Given the description of an element on the screen output the (x, y) to click on. 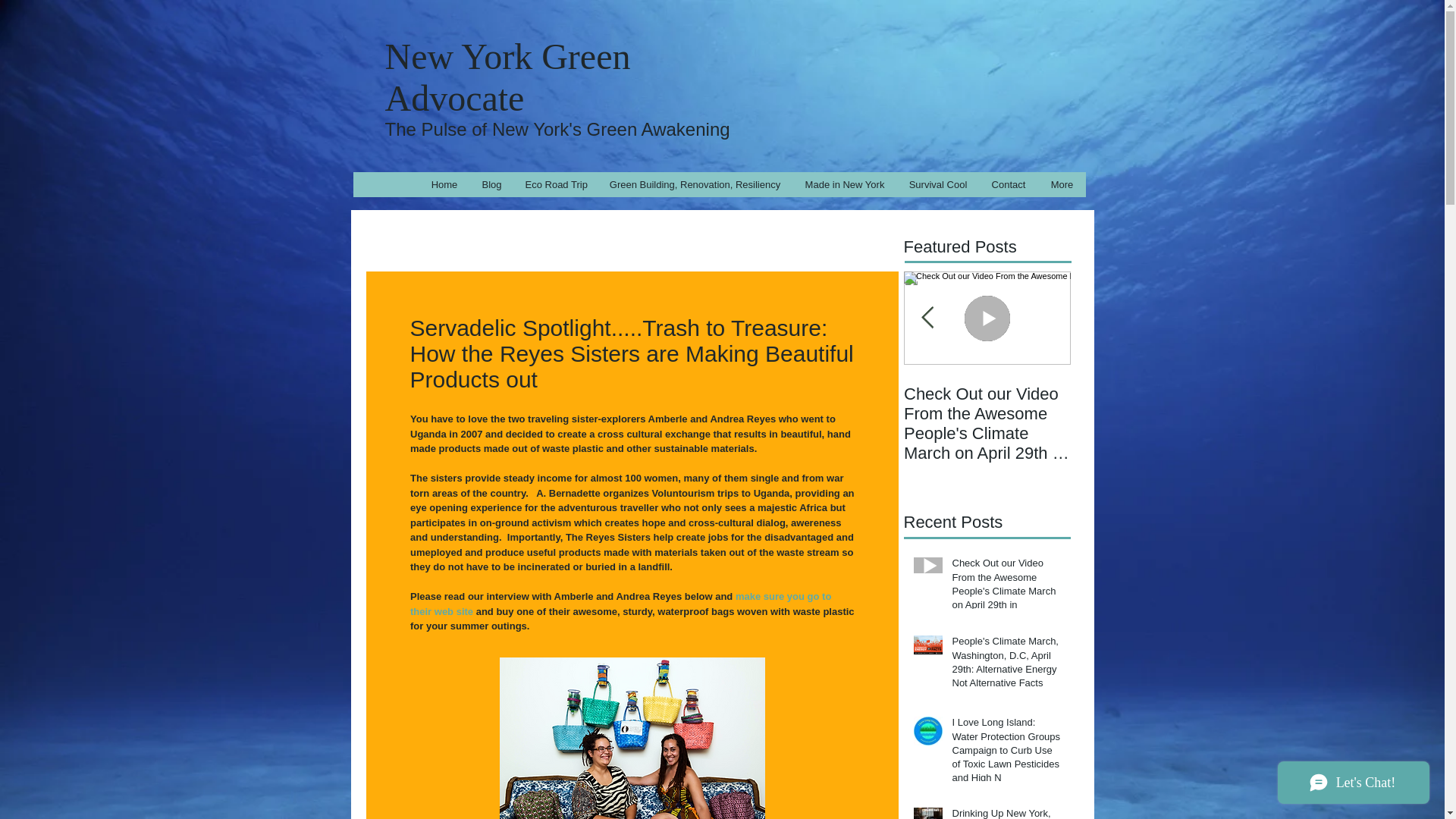
Home (444, 184)
Blog (491, 184)
Eco Road Trip (554, 184)
Survival Cool (937, 184)
Green Building, Renovation, Resiliency (694, 184)
make sure you go to their web site (620, 603)
Contact (1007, 184)
Made in New York (844, 184)
